Given the description of an element on the screen output the (x, y) to click on. 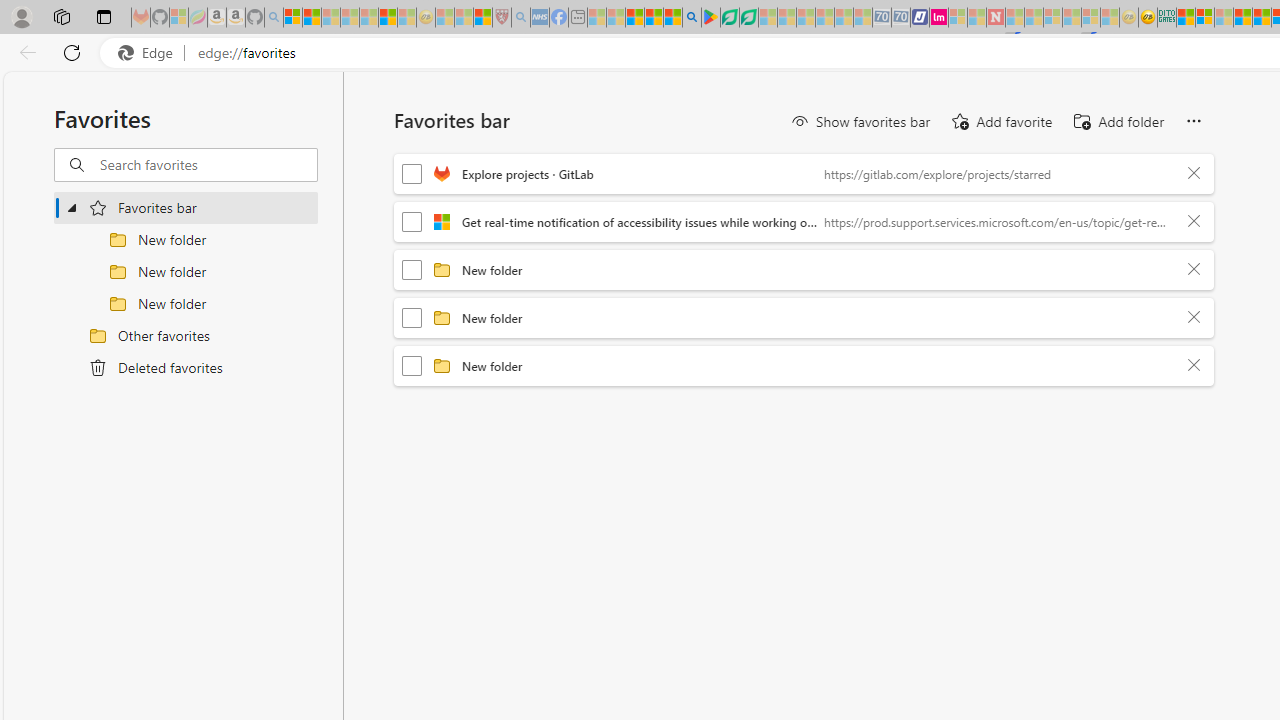
Cheap Hotels - Save70.com - Sleeping (901, 17)
The Weather Channel - MSN - Sleeping (331, 17)
Cheap Car Rentals - Save70.com - Sleeping (881, 17)
google - Search (692, 17)
Show favorites bar (859, 121)
New tab - Sleeping (578, 17)
Microsoft Word - consumer-privacy address update 2.2021 (748, 17)
